Given the description of an element on the screen output the (x, y) to click on. 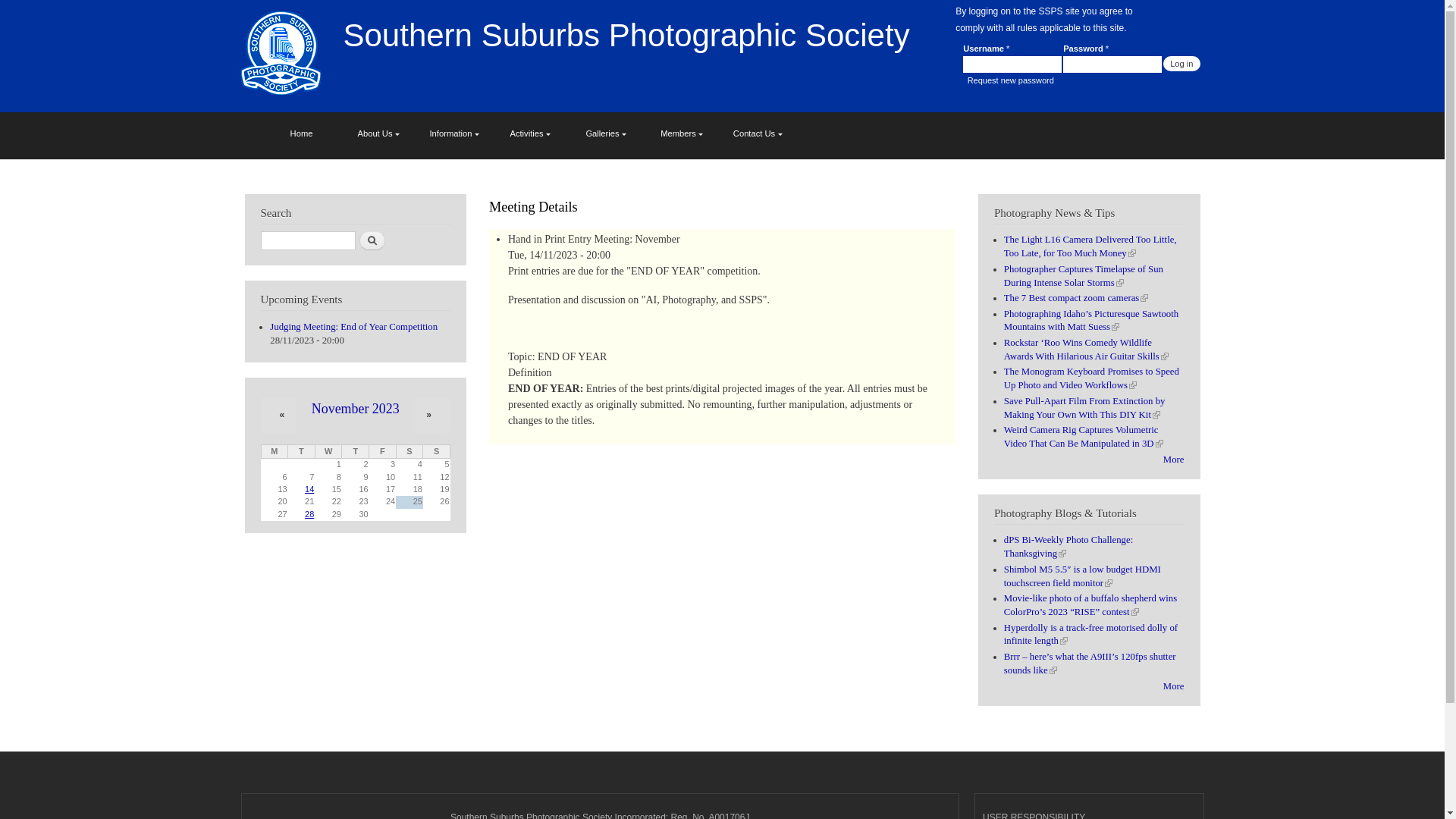
Information Element type: text (453, 133)
The 7 Best compact zoom cameras
(link is external) Element type: text (1076, 297)
More Element type: text (1173, 459)
Southern Suburbs Photographic Society Element type: text (625, 35)
Judging Meeting: End of Year Competition Element type: text (353, 326)
More Element type: text (1173, 685)
Enter the terms you wish to search for. Element type: hover (307, 240)
Log in Element type: text (1181, 63)
Search Element type: text (372, 240)
Home Element type: text (301, 133)
Members Element type: text (680, 133)
About Us Element type: text (377, 133)
Galleries Element type: text (605, 133)
Home Element type: hover (282, 55)
14 Element type: text (308, 488)
28 Element type: text (308, 513)
November 2023 Element type: text (355, 408)
Request new password Element type: text (1010, 79)
Skip to main content Element type: text (690, 1)
Contact Us Element type: text (756, 133)
Activities Element type: text (529, 133)
